Given the description of an element on the screen output the (x, y) to click on. 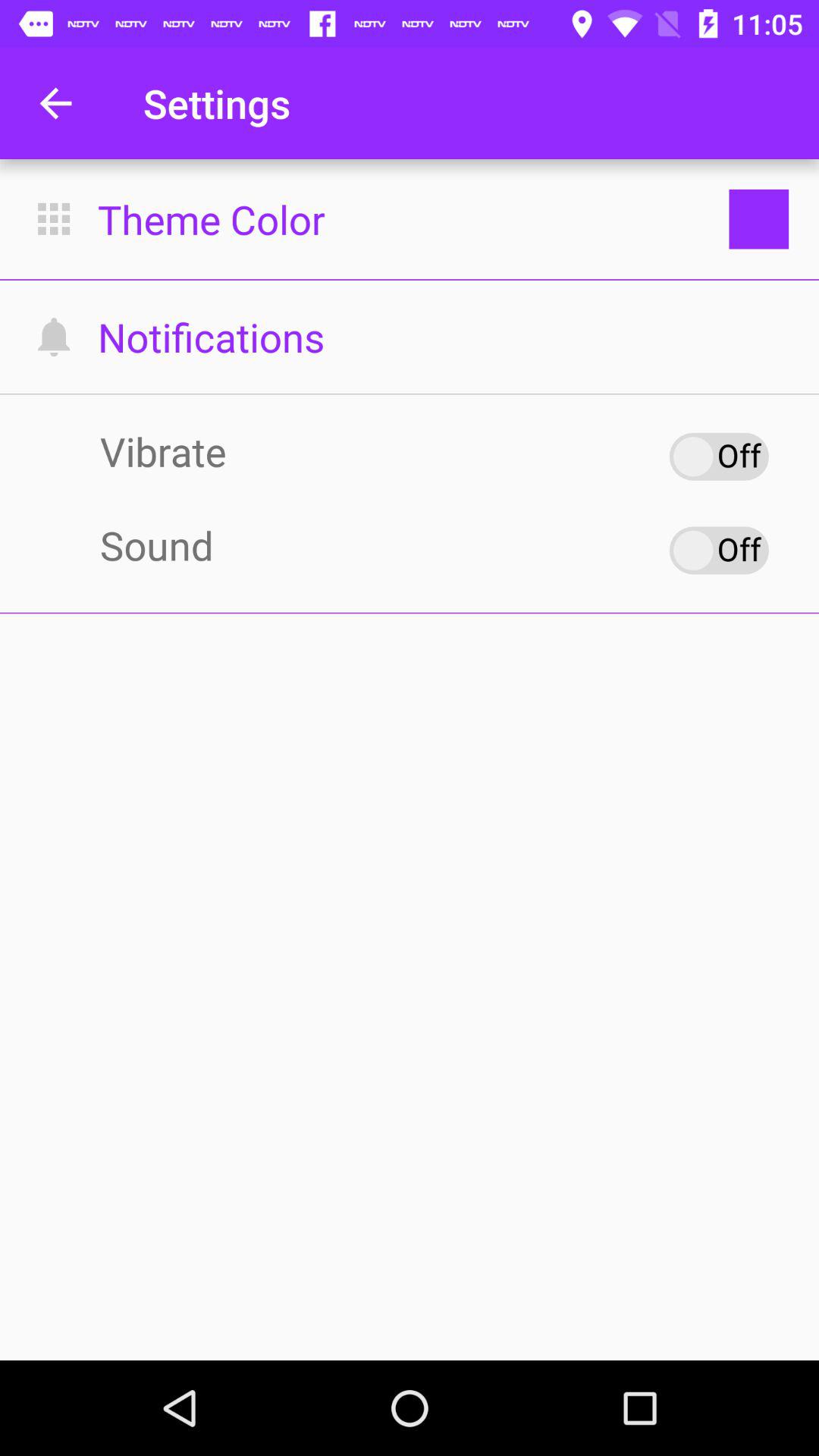
toggle on and off (718, 550)
